Given the description of an element on the screen output the (x, y) to click on. 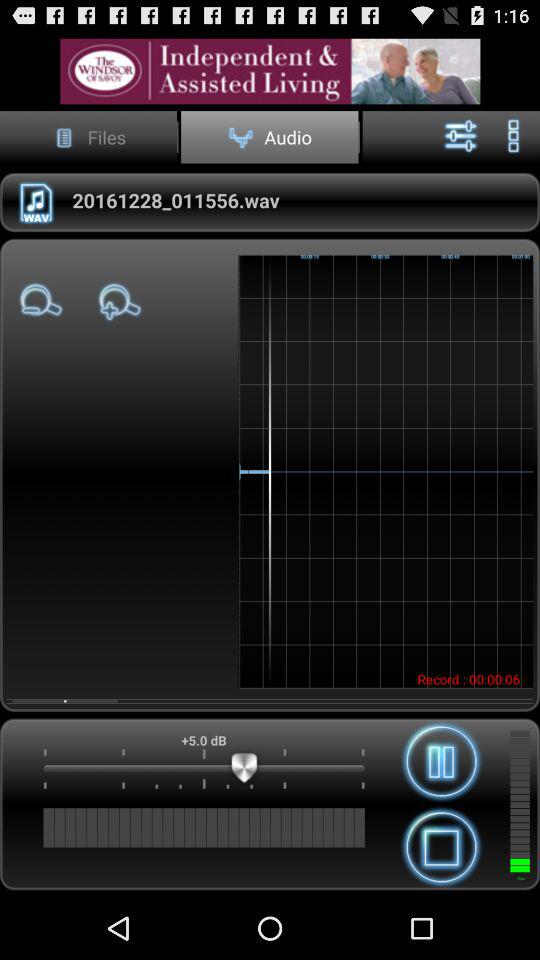
go to details (270, 70)
